Given the description of an element on the screen output the (x, y) to click on. 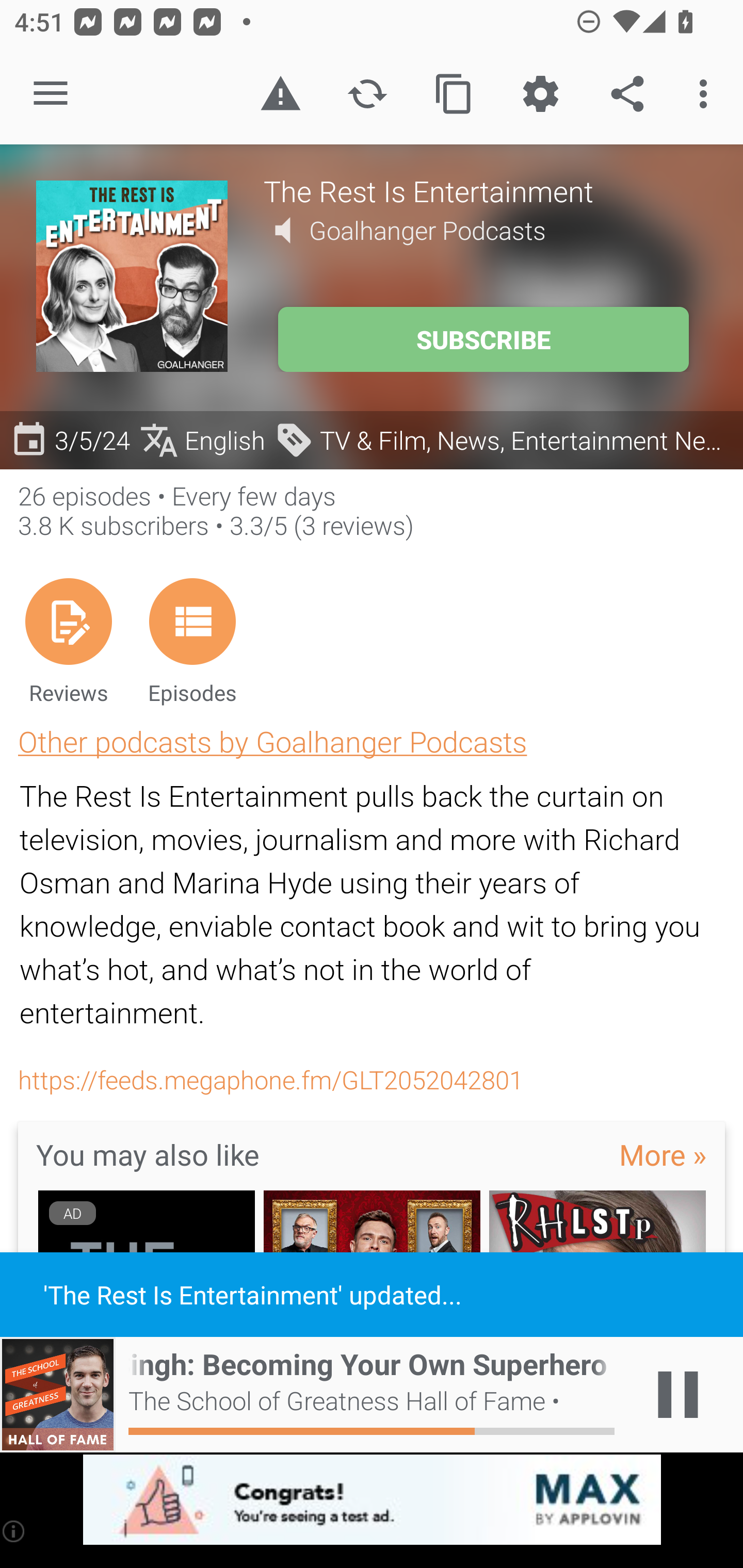
Open navigation sidebar (50, 93)
Report inappropriate content (280, 93)
Refresh podcast description (366, 93)
Copy feed url to clipboard (453, 93)
Custom Settings (540, 93)
Share the podcast (626, 93)
More options (706, 93)
The Rest Is Entertainment (484, 190)
Goalhanger Podcasts (427, 230)
SUBSCRIBE (482, 339)
TV & Film, News, Entertainment News, Arts, Books (504, 439)
Reviews (68, 640)
Episodes (192, 640)
Other podcasts by Goalhanger Podcasts (272, 740)
More » (662, 1154)
Play / Pause (677, 1394)
app-monetization (371, 1500)
(i) (14, 1531)
